Given the description of an element on the screen output the (x, y) to click on. 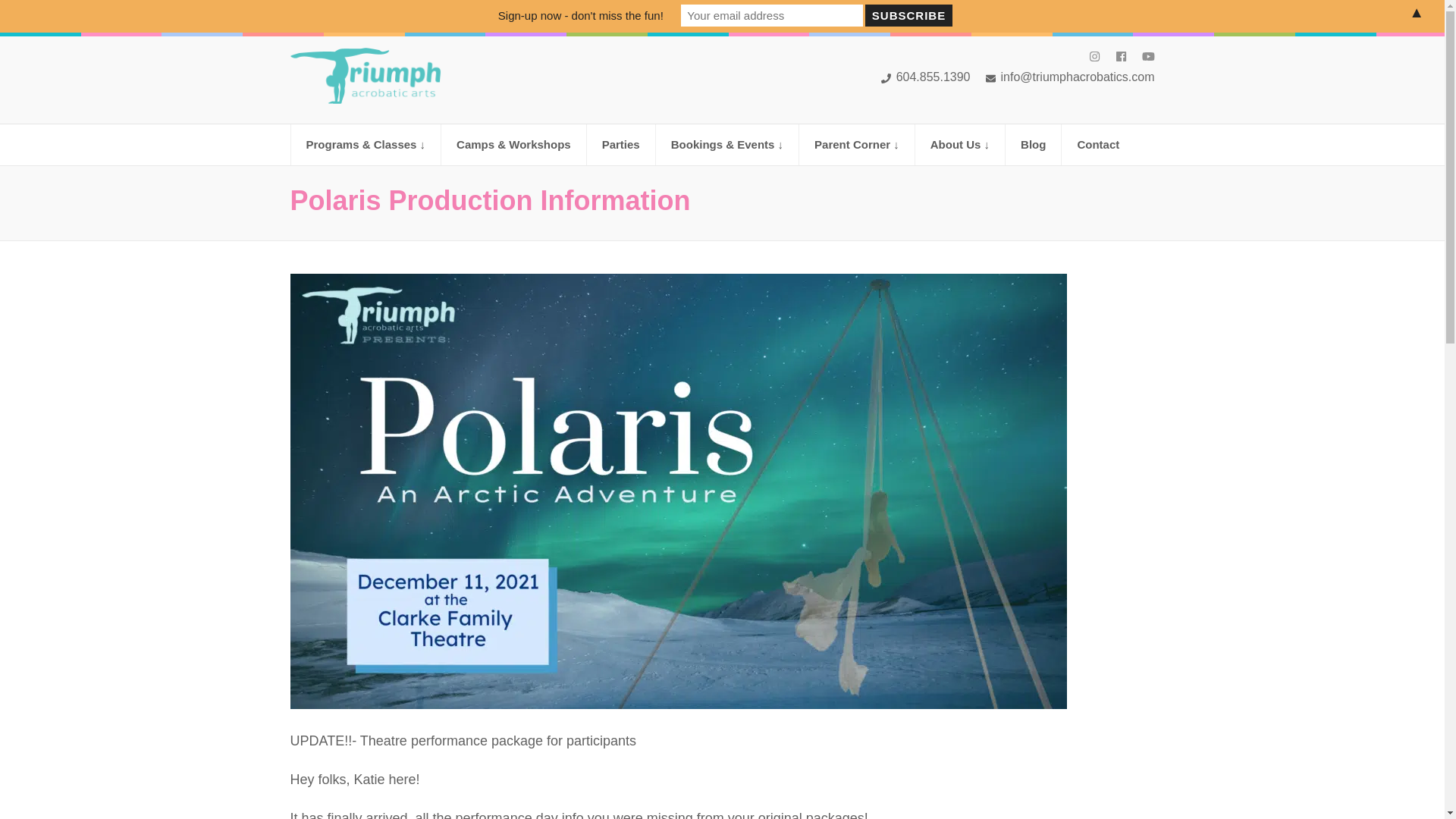
Triumph Acrobatic Arts (405, 121)
604.855.1390 (925, 76)
Subscribe (908, 15)
